Given the description of an element on the screen output the (x, y) to click on. 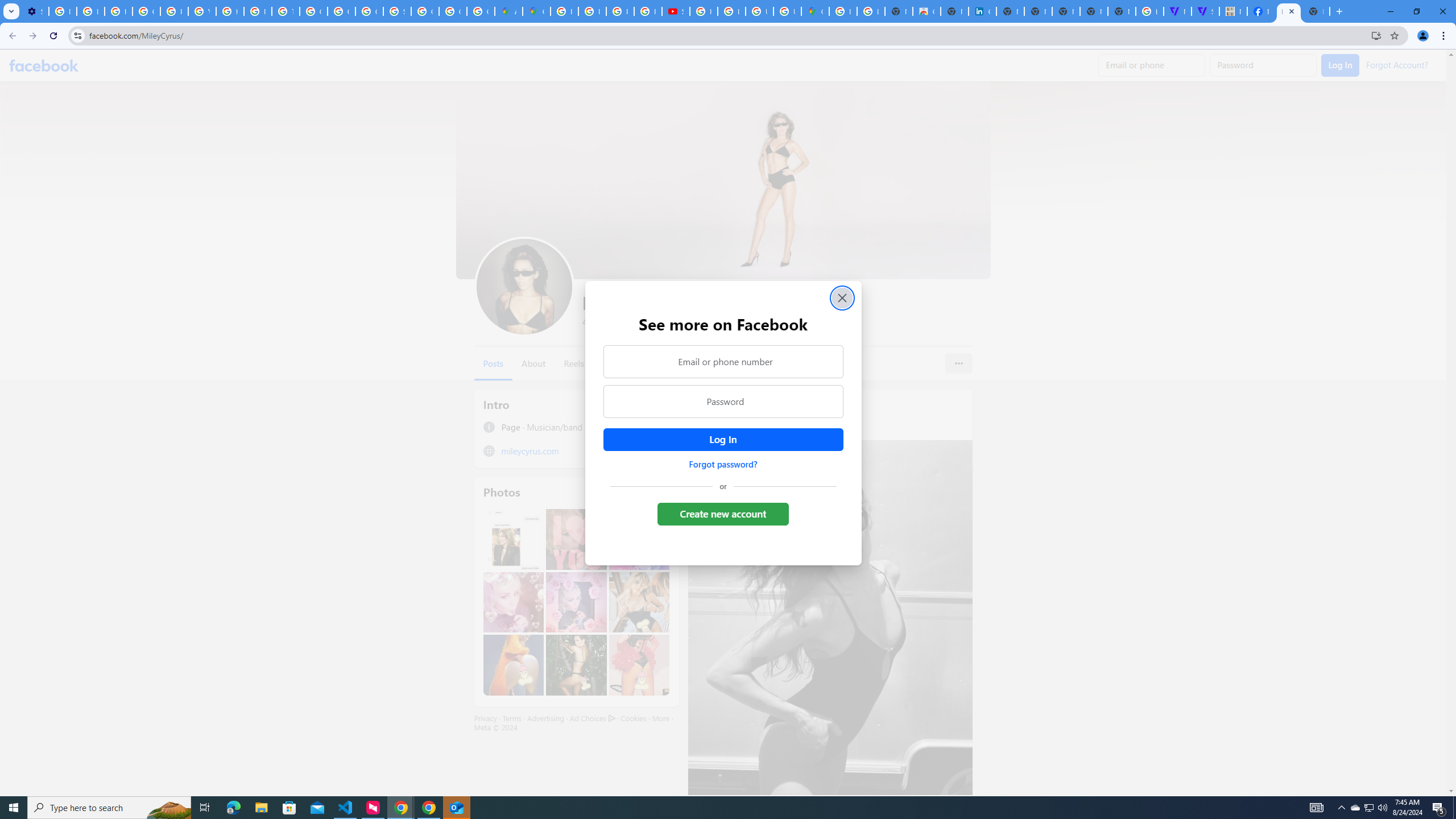
Facebook (44, 65)
Forgot Account? (1396, 64)
Install Facebook (1376, 35)
Privacy Help Center - Policies Help (174, 11)
YouTube (202, 11)
Privacy Help Center - Policies Help (620, 11)
Subscriptions - YouTube (675, 11)
